Given the description of an element on the screen output the (x, y) to click on. 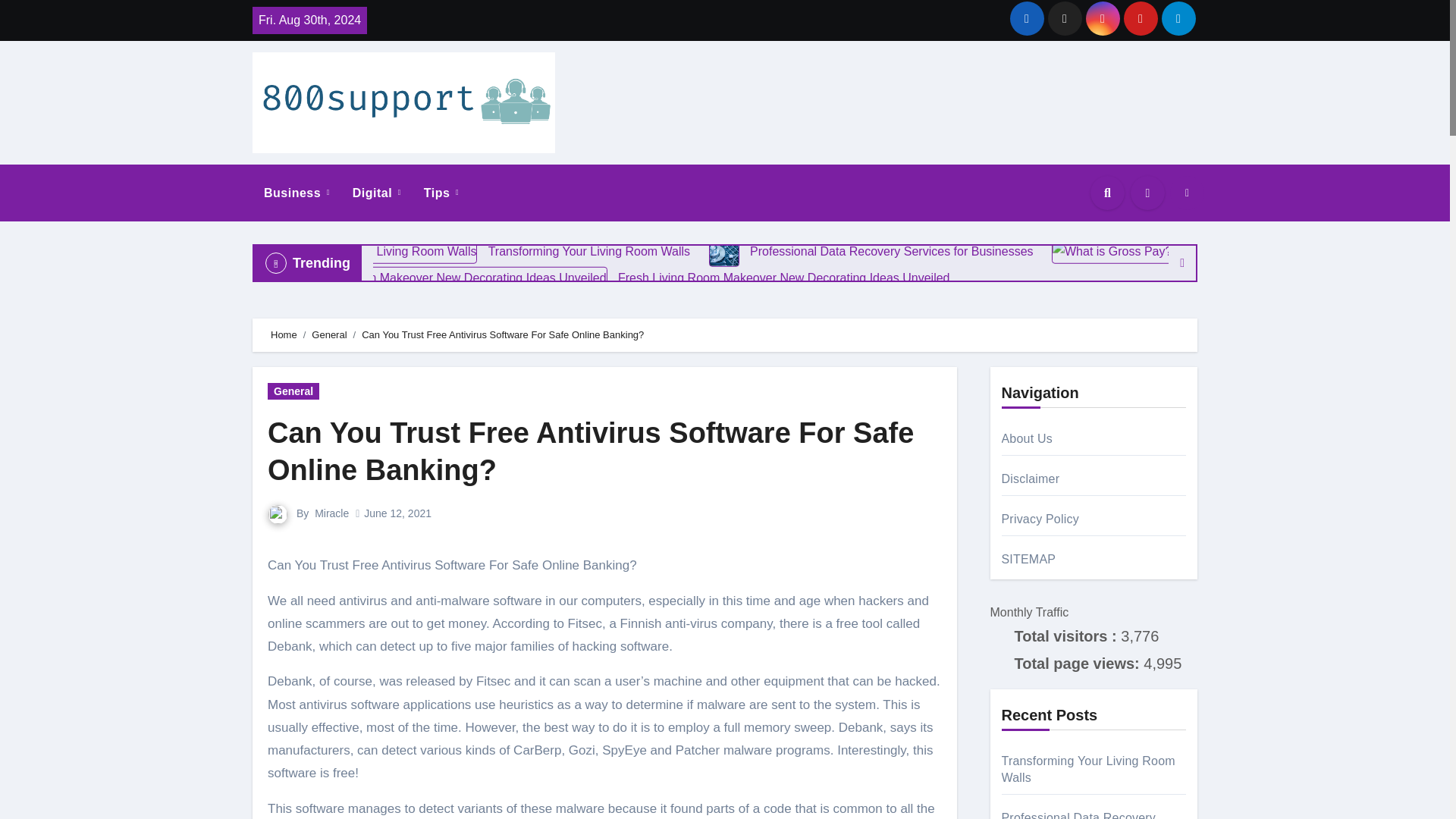
Digital (376, 193)
Home (283, 334)
Miracle (331, 512)
Transforming Your Living Room Walls (369, 251)
Business (295, 193)
Professional Data Recovery Services for Businesses (724, 251)
Business (295, 193)
June 12, 2021 (397, 512)
Transforming Your Living Room Walls (478, 250)
What is Gross Pay? (1172, 250)
